Given the description of an element on the screen output the (x, y) to click on. 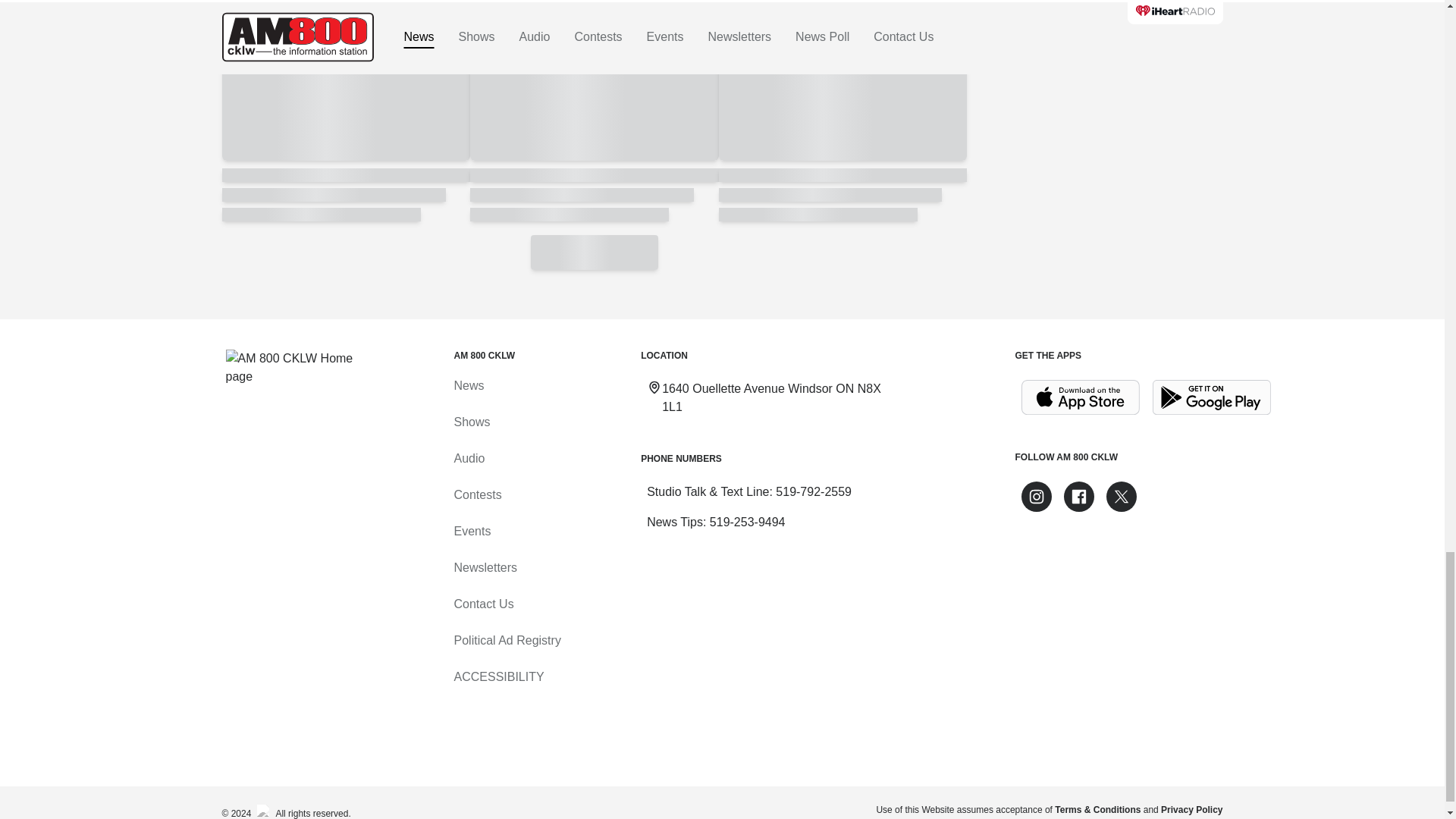
519-792-2559 (813, 491)
News (467, 385)
Accessibility (497, 676)
Privacy Policy (1191, 809)
Newsletters (484, 567)
Shows (470, 421)
Get it on Google Play (1212, 397)
Audio (468, 458)
519-253-9494 (748, 521)
Privacy Policy (1191, 809)
Download on the App Store (1080, 397)
Contact Us (482, 603)
ACCESSIBILITY (497, 676)
Events (471, 530)
Political Ad Registry (506, 640)
